Given the description of an element on the screen output the (x, y) to click on. 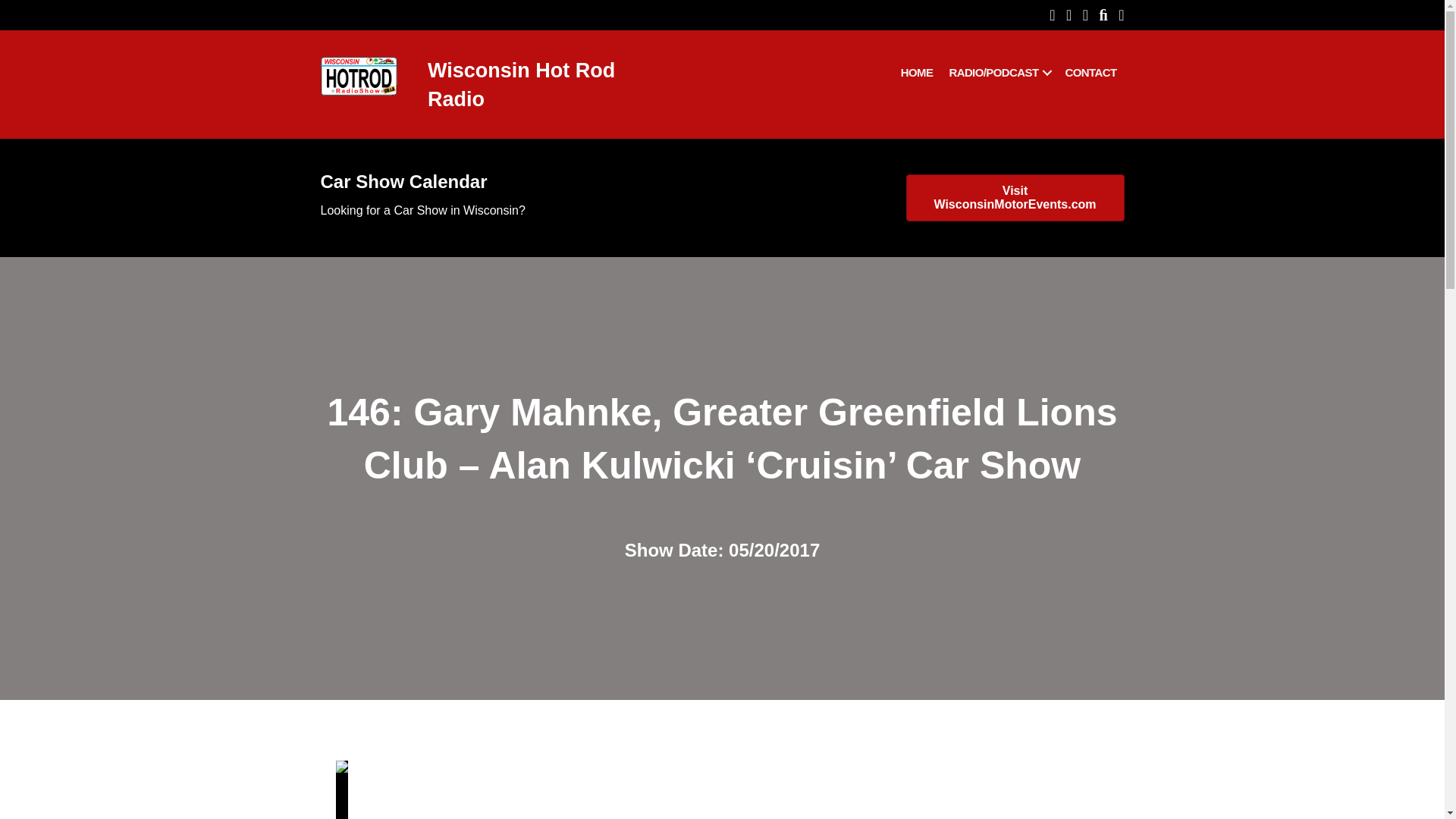
Wisconsin Hot Rod Radio (521, 84)
HOME (916, 72)
CONTACT (1090, 72)
Visit WisconsinMotorEvents.com (1014, 197)
Wisconsin Hot Rod Radio (521, 84)
